Given the description of an element on the screen output the (x, y) to click on. 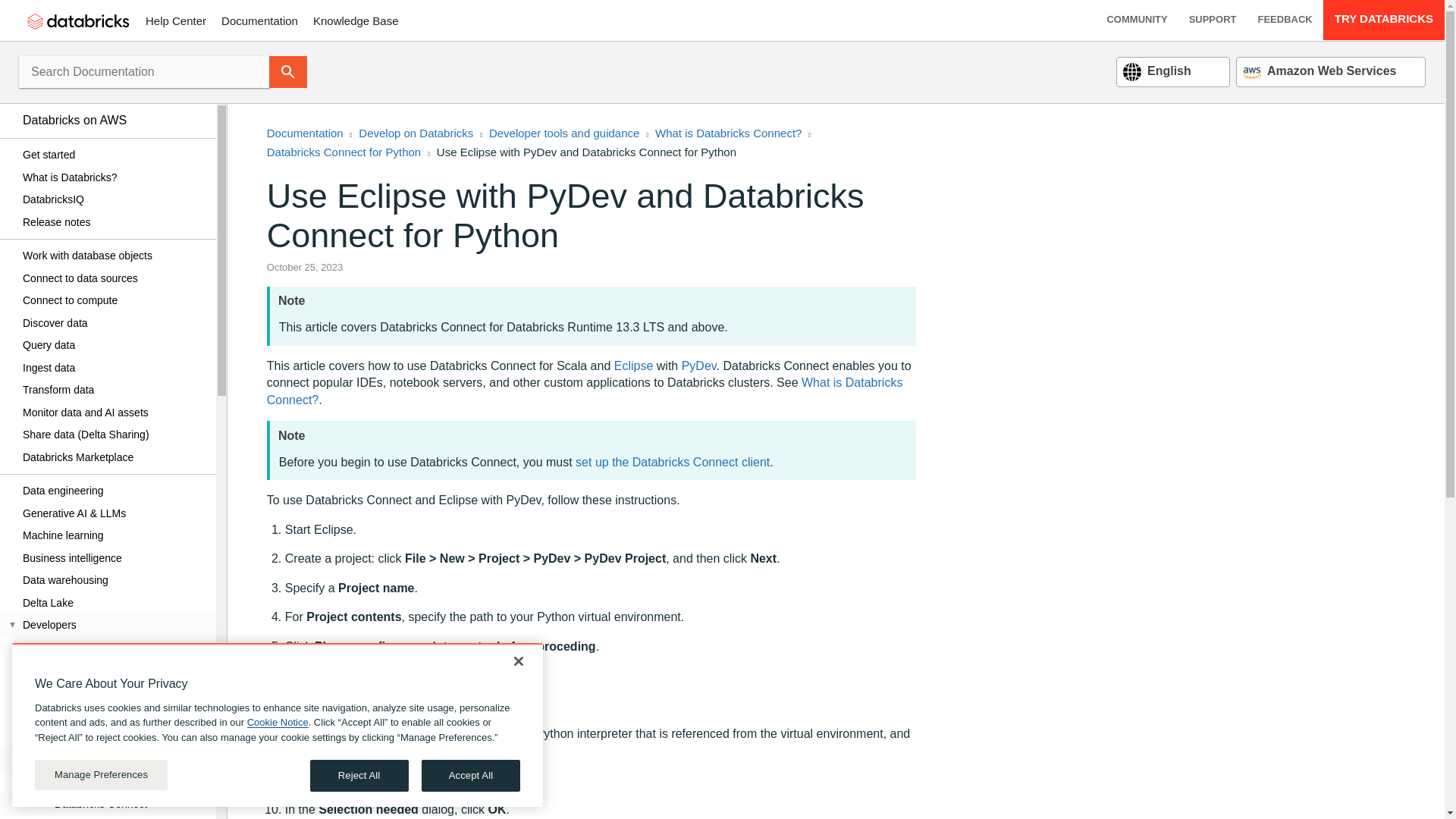
Transform data (113, 390)
Python (113, 648)
Databricks on AWS (113, 120)
Connect to data sources (113, 277)
What is Databricks? (113, 178)
Ingest data (113, 367)
Business intelligence (113, 558)
Work with database objects (113, 255)
Discover data (113, 323)
Databricks Marketplace (113, 456)
Amazon Web Services (1319, 72)
Help Center (176, 20)
Documentation (259, 20)
Connect to compute (113, 300)
Data warehousing (113, 580)
